Given the description of an element on the screen output the (x, y) to click on. 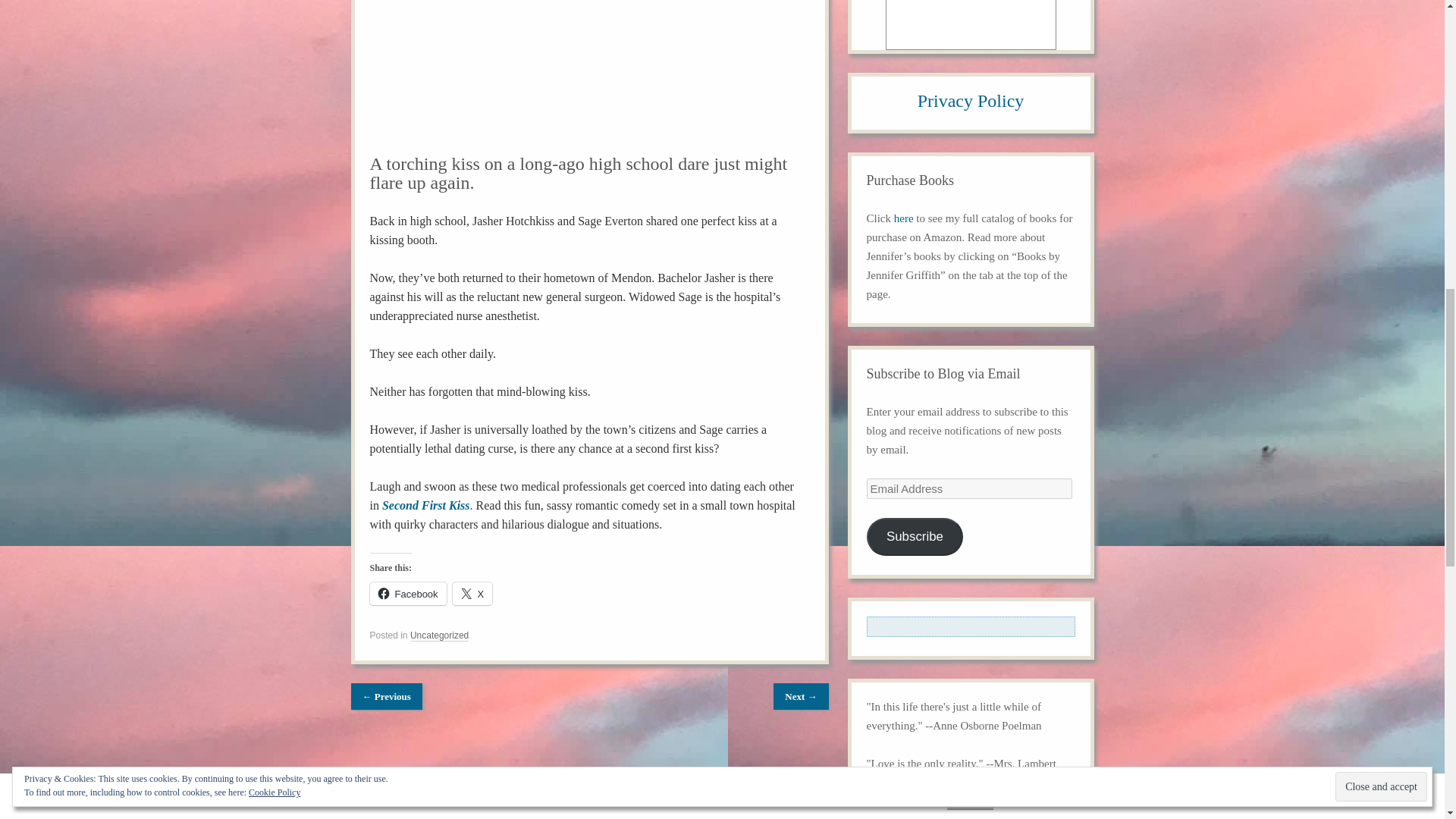
Click to share on X (472, 593)
X (472, 593)
Second First Kiss. (427, 504)
Click to share on Facebook (407, 593)
Uncategorized (439, 635)
Facebook (407, 593)
here (903, 218)
Subscribe (914, 536)
Privacy Policy (971, 100)
